Given the description of an element on the screen output the (x, y) to click on. 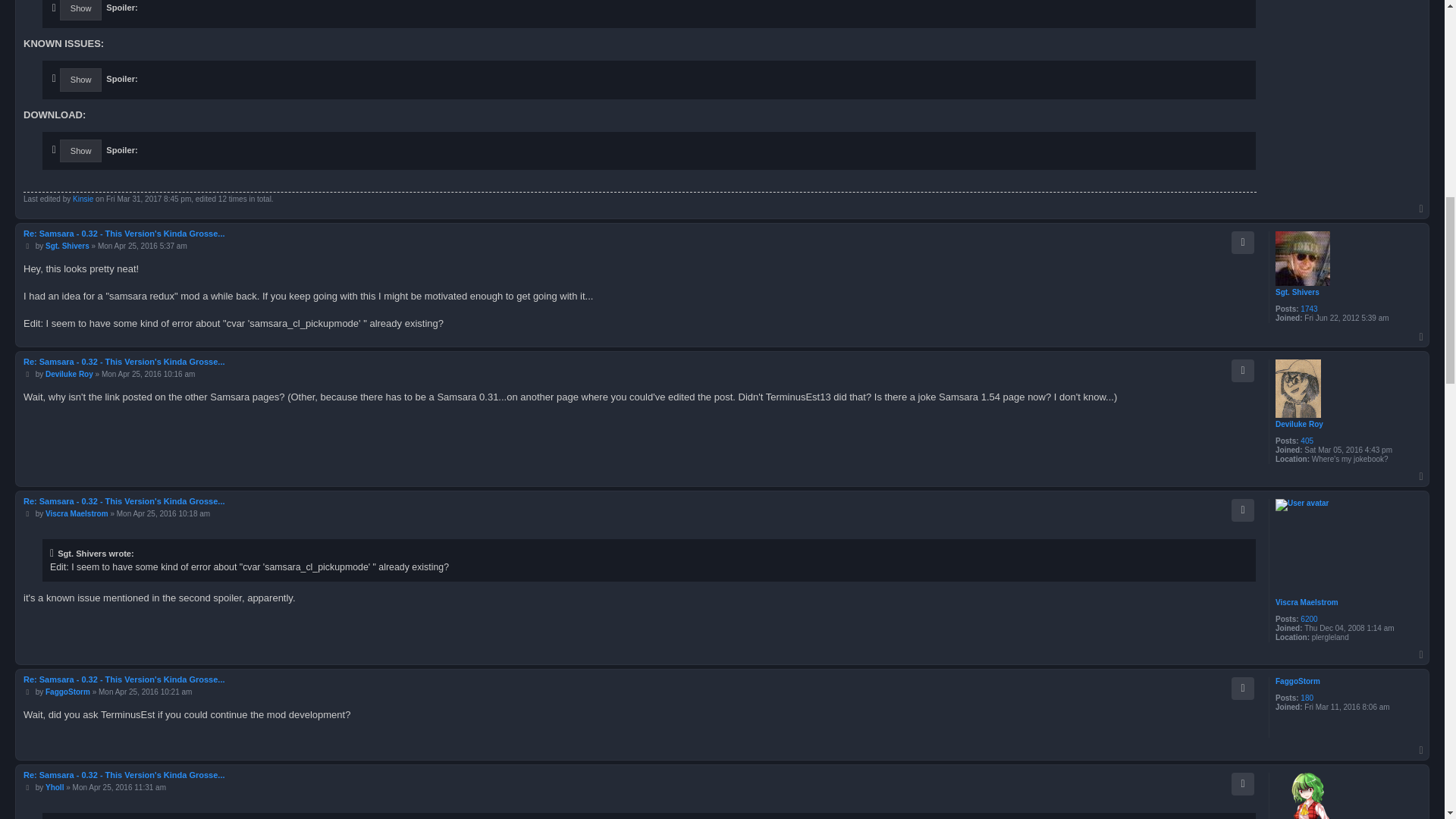
Show (80, 10)
Show (80, 150)
Show (80, 79)
